Given the description of an element on the screen output the (x, y) to click on. 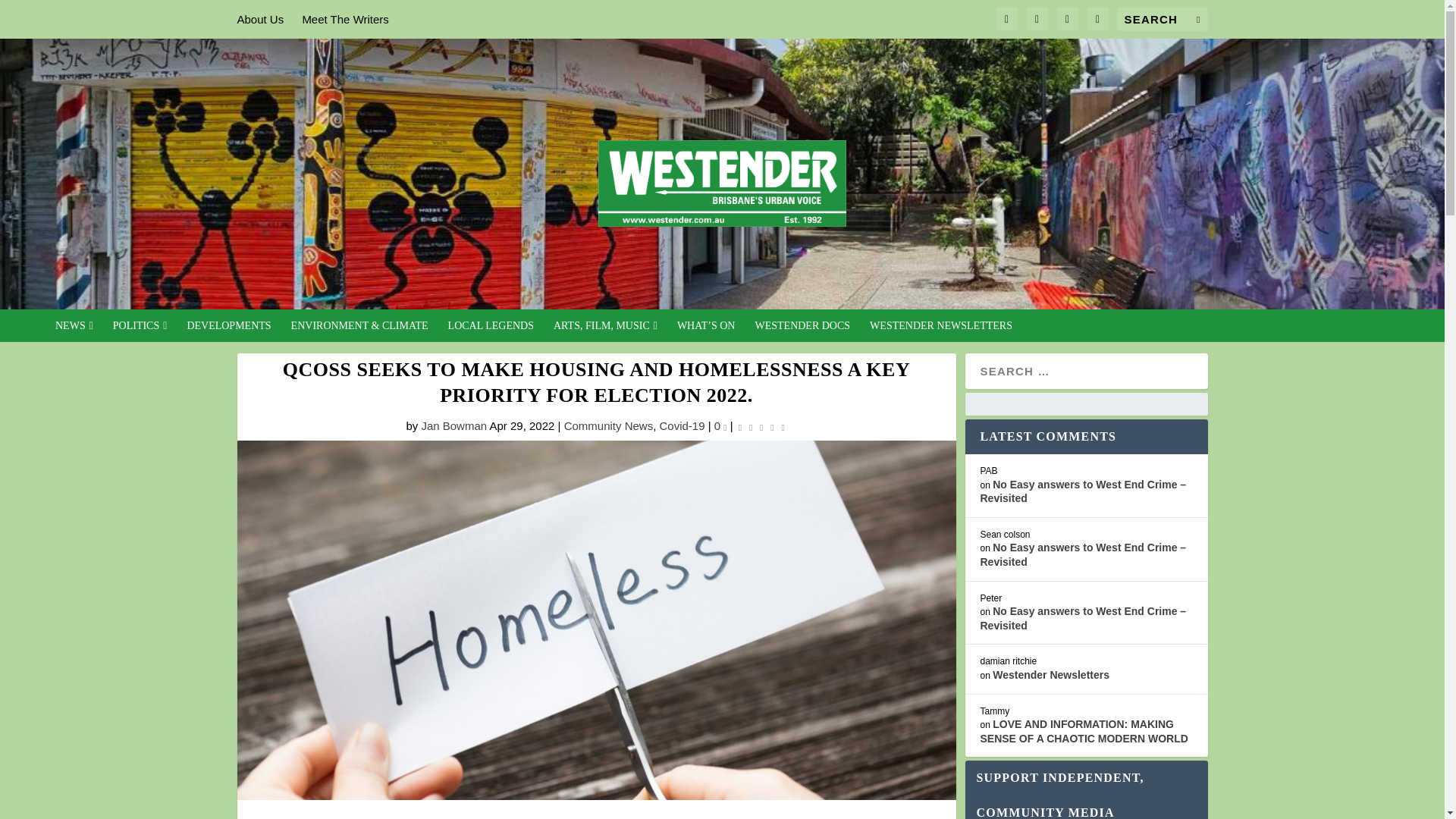
About Us (259, 19)
WESTENDER DOCS (802, 331)
Search for: (1161, 19)
Meet The Writers (344, 19)
Rating: 0.00 (761, 426)
DEVELOPMENTS (228, 331)
Posts by Jan Bowman (453, 425)
LOCAL LEGENDS (491, 331)
NEWS (74, 331)
WESTENDER NEWSLETTERS (940, 331)
POLITICS (140, 331)
ARTS, FILM, MUSIC (605, 331)
